Given the description of an element on the screen output the (x, y) to click on. 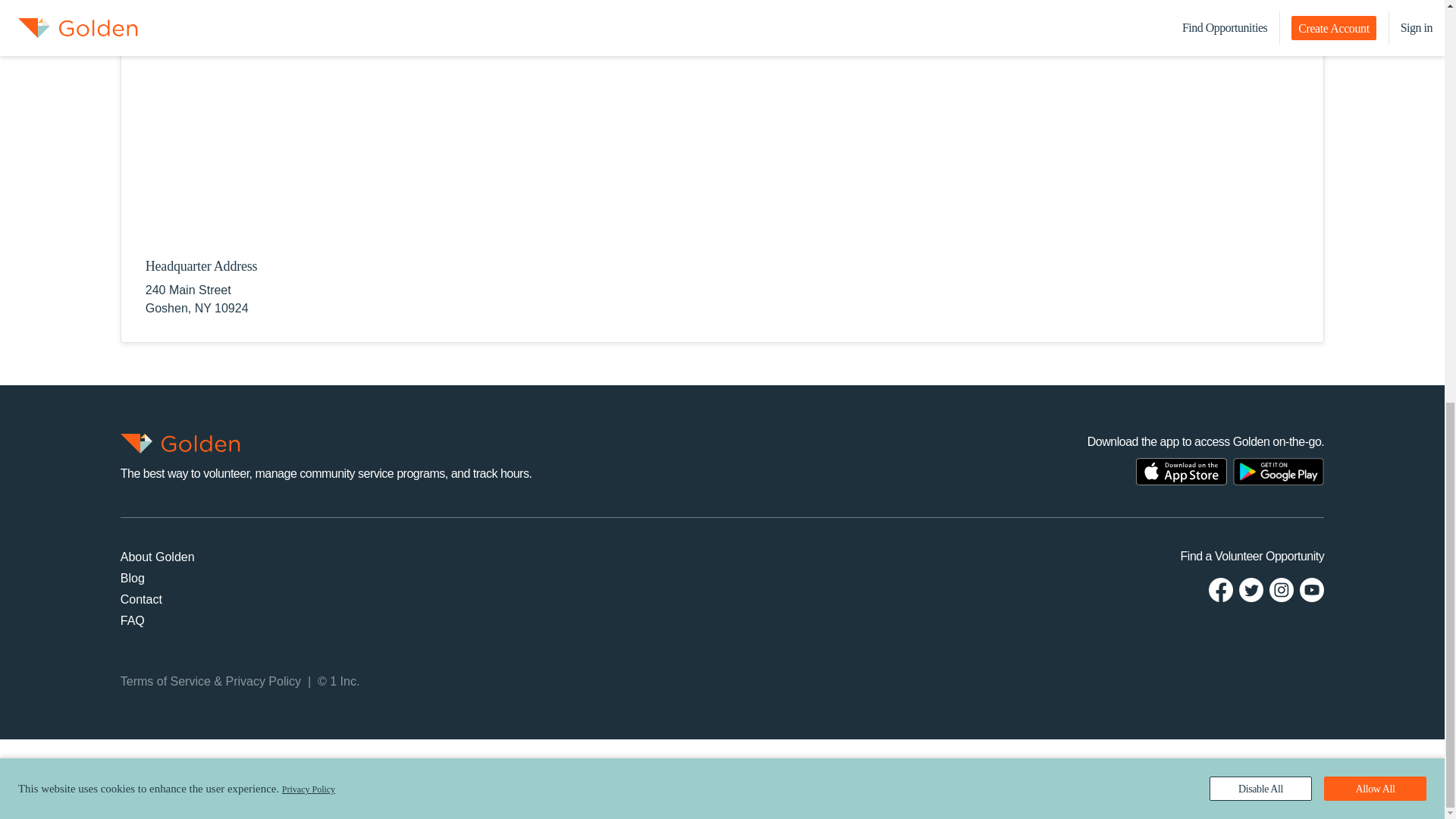
Visit Us On Instagram (1281, 589)
Contact (140, 599)
FAQ (132, 620)
Disable All (1260, 4)
Blog (132, 577)
Privacy Policy (263, 680)
Allow All (1374, 4)
Volunteer Opportunity (1268, 555)
About Golden (157, 556)
Blog (132, 577)
